Given the description of an element on the screen output the (x, y) to click on. 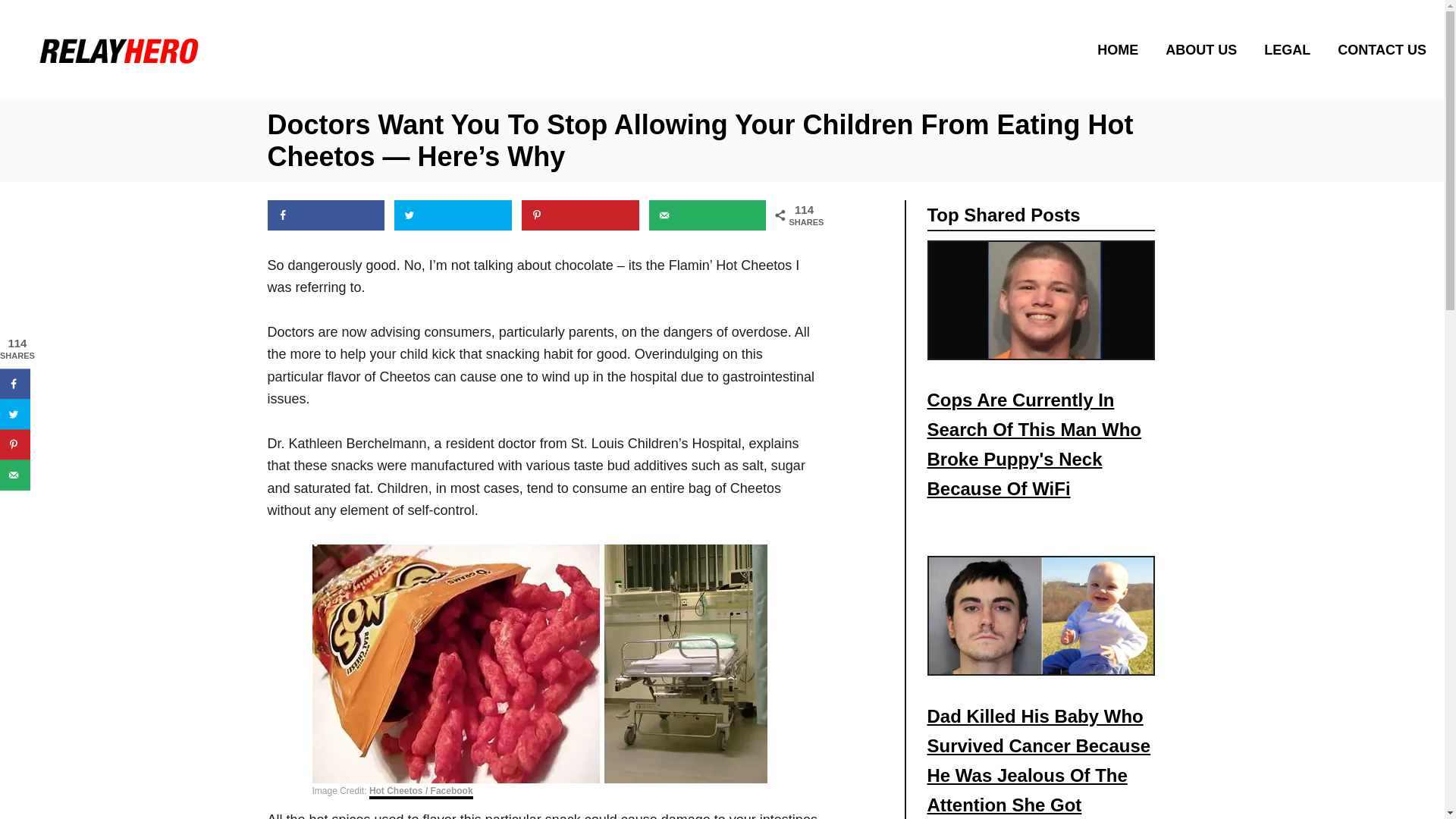
Save to Pinterest (580, 214)
ABOUT US (1205, 49)
Relay Hero (202, 49)
Share on Facebook (15, 383)
Send over email (708, 214)
Share on Facebook (325, 214)
CONTACT US (1376, 49)
HOME (1121, 49)
LEGAL (1291, 49)
Share on Twitter (453, 214)
